Given the description of an element on the screen output the (x, y) to click on. 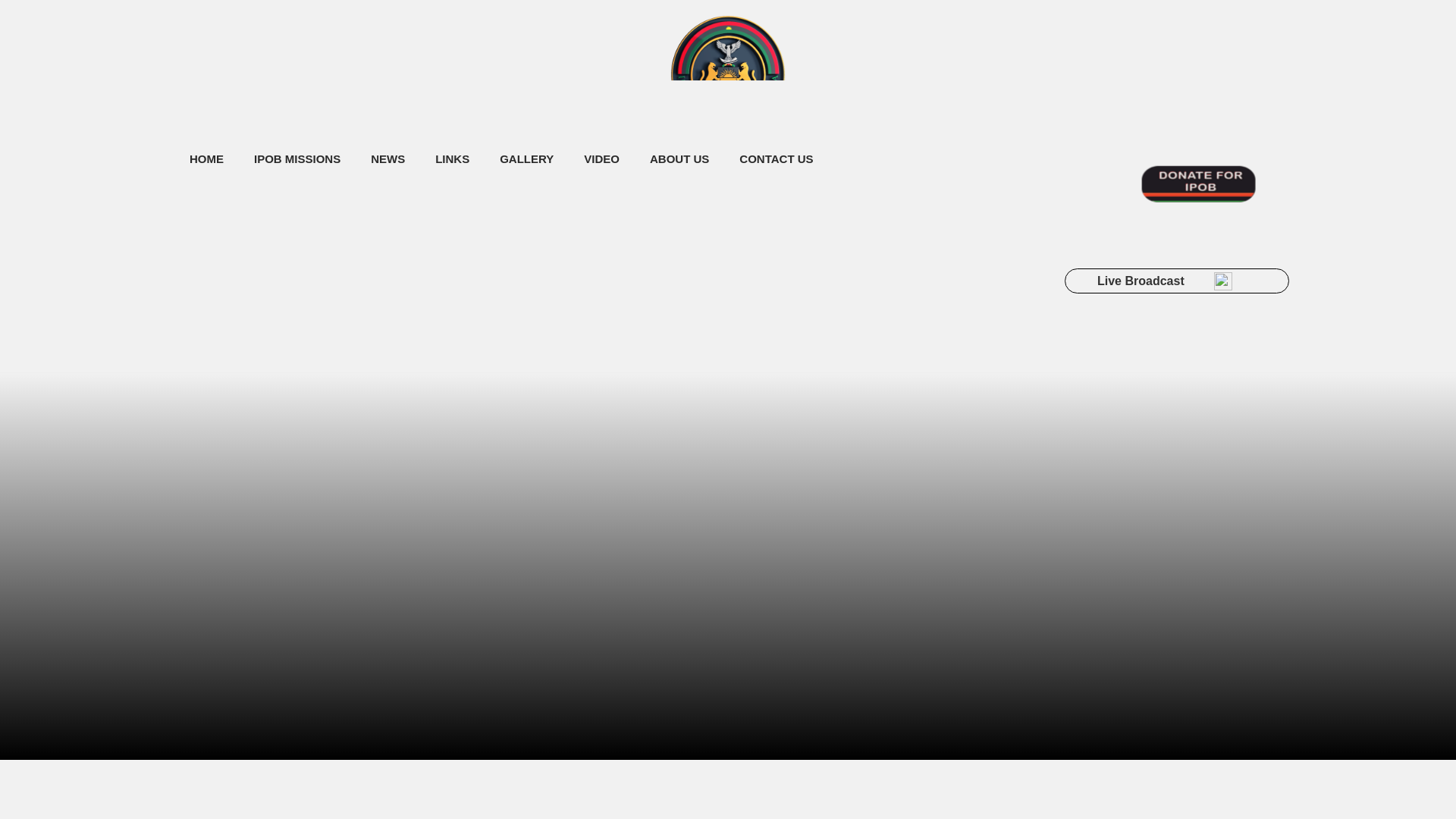
LINKS (452, 158)
PayPal - The safer, easier way to pay online! (1254, 202)
HOME (206, 158)
NEWS (387, 158)
VIDEO (601, 158)
IPOB MISSIONS (296, 158)
ABOUT US (678, 158)
GALLERY (526, 158)
CONTACT US (775, 158)
Live Broadcast (1176, 280)
